Given the description of an element on the screen output the (x, y) to click on. 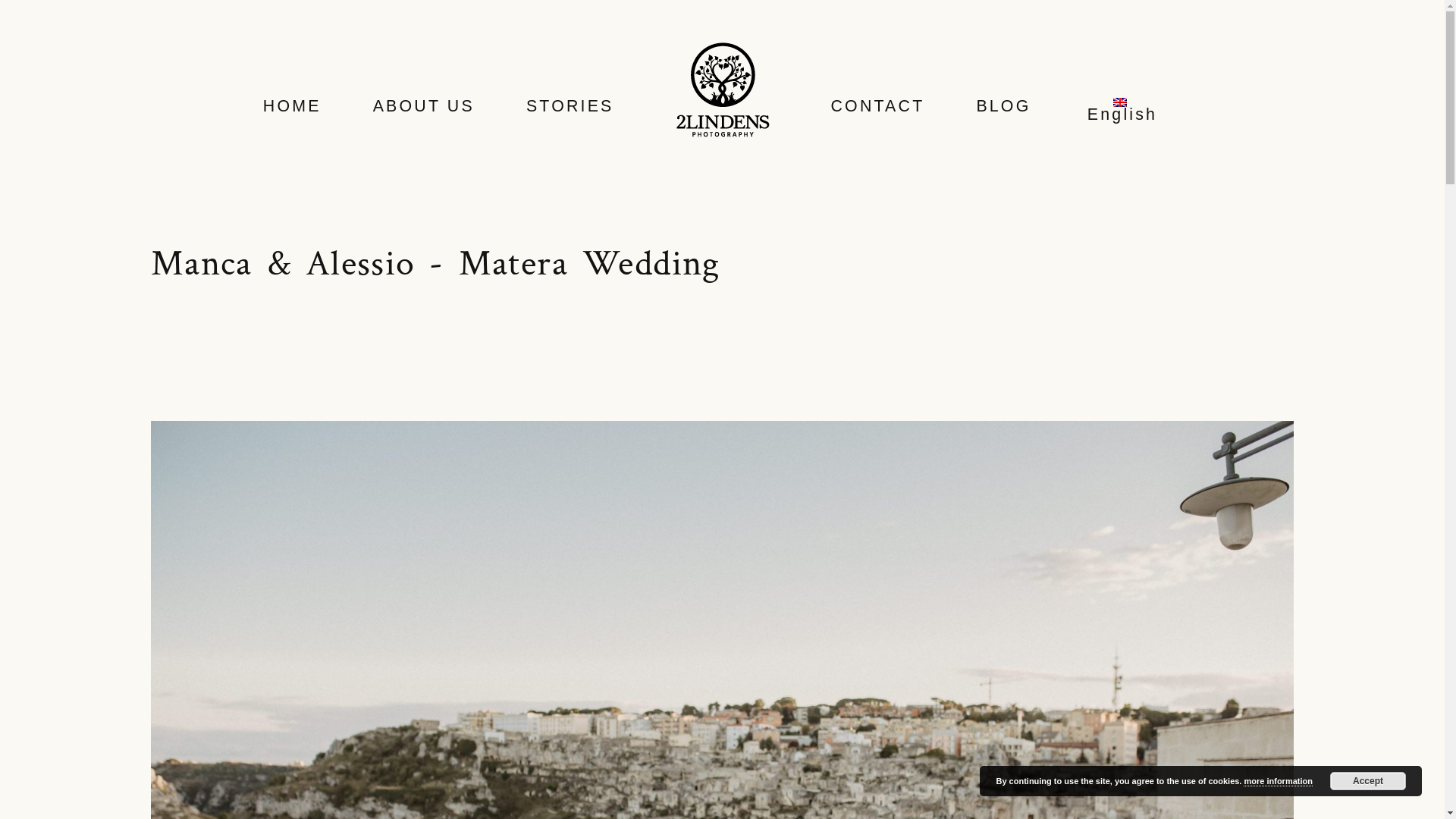
Accept Element type: text (1367, 780)
more information Element type: text (1277, 781)
HOME Element type: text (292, 106)
English Element type: text (1119, 109)
CONTACT Element type: text (877, 106)
ABOUT US Element type: text (423, 106)
STORIES Element type: text (570, 106)
BLOG Element type: text (1002, 106)
